Given the description of an element on the screen output the (x, y) to click on. 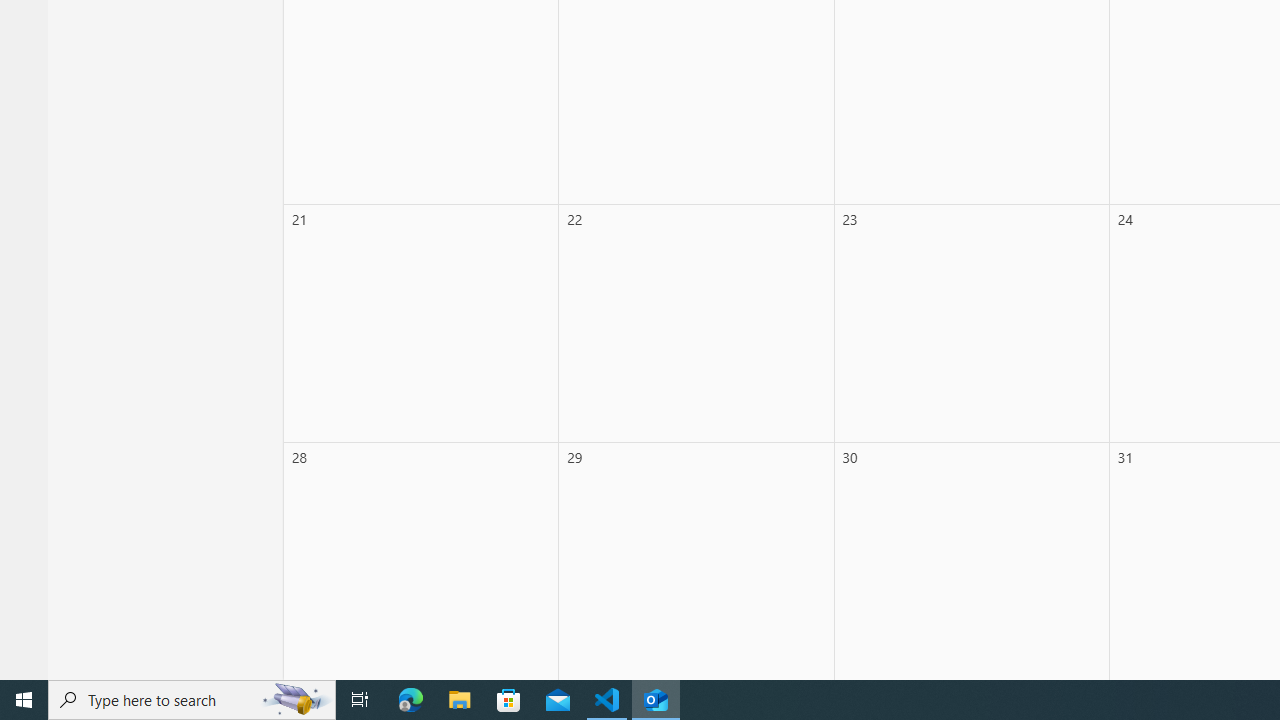
Outlook (new) - 1 running window (656, 699)
